Given the description of an element on the screen output the (x, y) to click on. 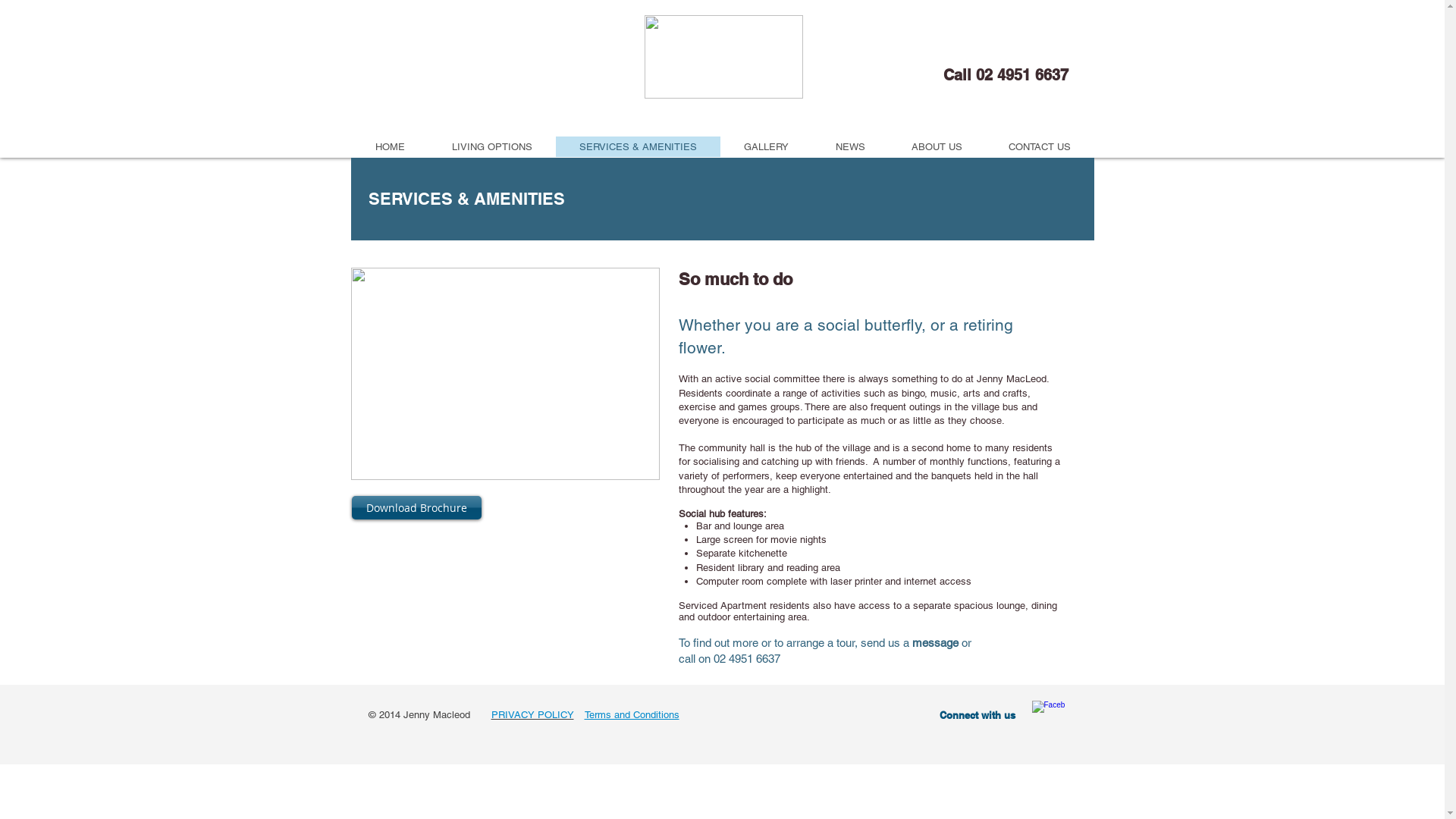
ABOUT US Element type: text (936, 146)
Download Brochure Element type: text (416, 507)
GALLERY Element type: text (766, 146)
CONTACT US Element type: text (1039, 146)
LIVING OPTIONS Element type: text (491, 146)
HOME Element type: text (389, 146)
SERVICES & AMENITIES Element type: text (637, 146)
message Element type: text (934, 642)
Site Search Element type: hover (991, 46)
NEWS Element type: text (849, 146)
Jenny MacLeod Retirement Living.png Element type: hover (723, 56)
Terms and Conditions Element type: text (630, 714)
PRIVACY POLICY Element type: text (532, 714)
